Given the description of an element on the screen output the (x, y) to click on. 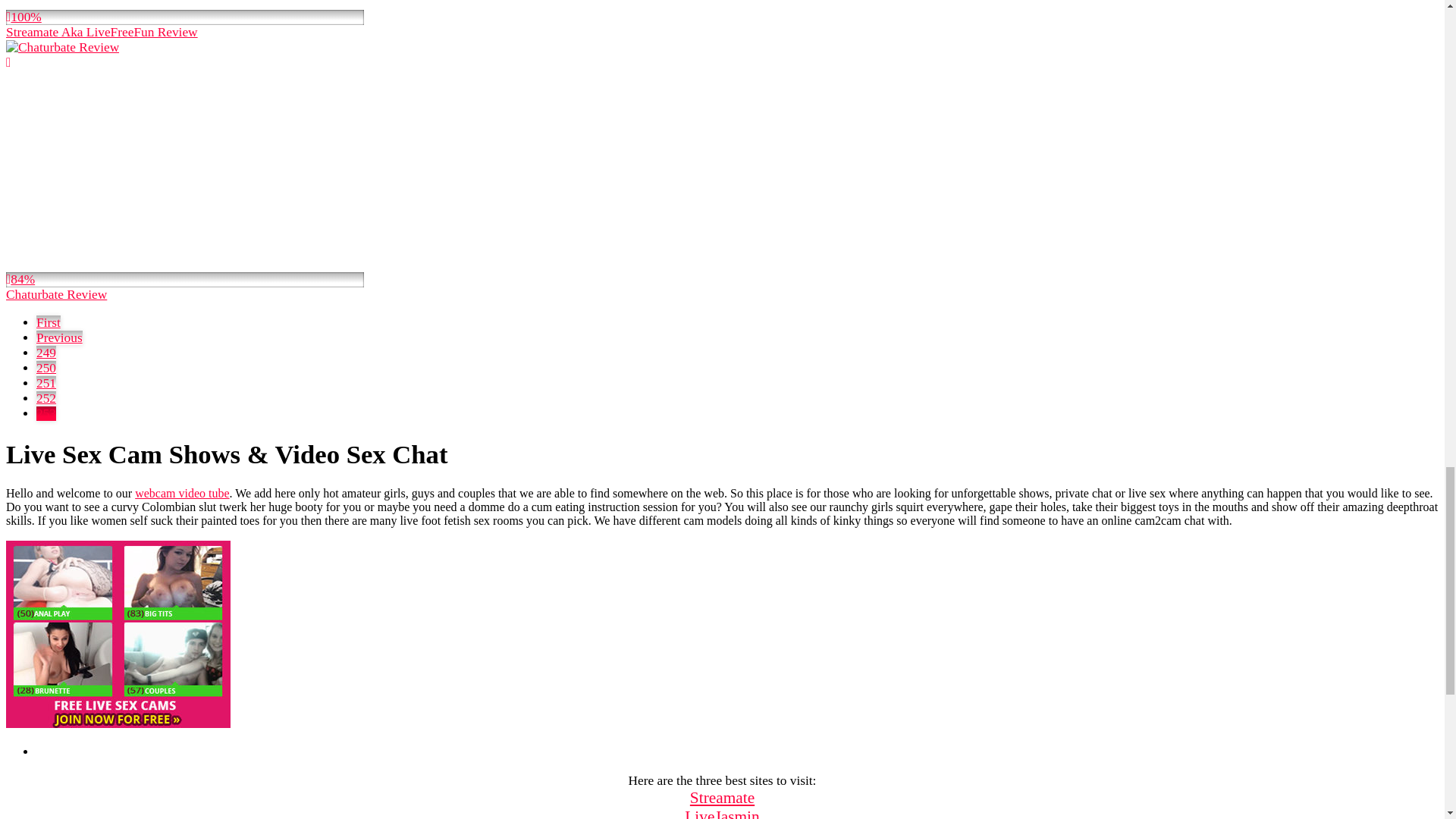
249 (46, 352)
250 (46, 368)
LiveJasmin (721, 813)
Chaturbate Review (184, 171)
Streamate Aka LiveFreeFun Review (184, 20)
Previous (59, 337)
253 (46, 413)
First (48, 322)
252 (46, 398)
Streamate (722, 797)
